Given the description of an element on the screen output the (x, y) to click on. 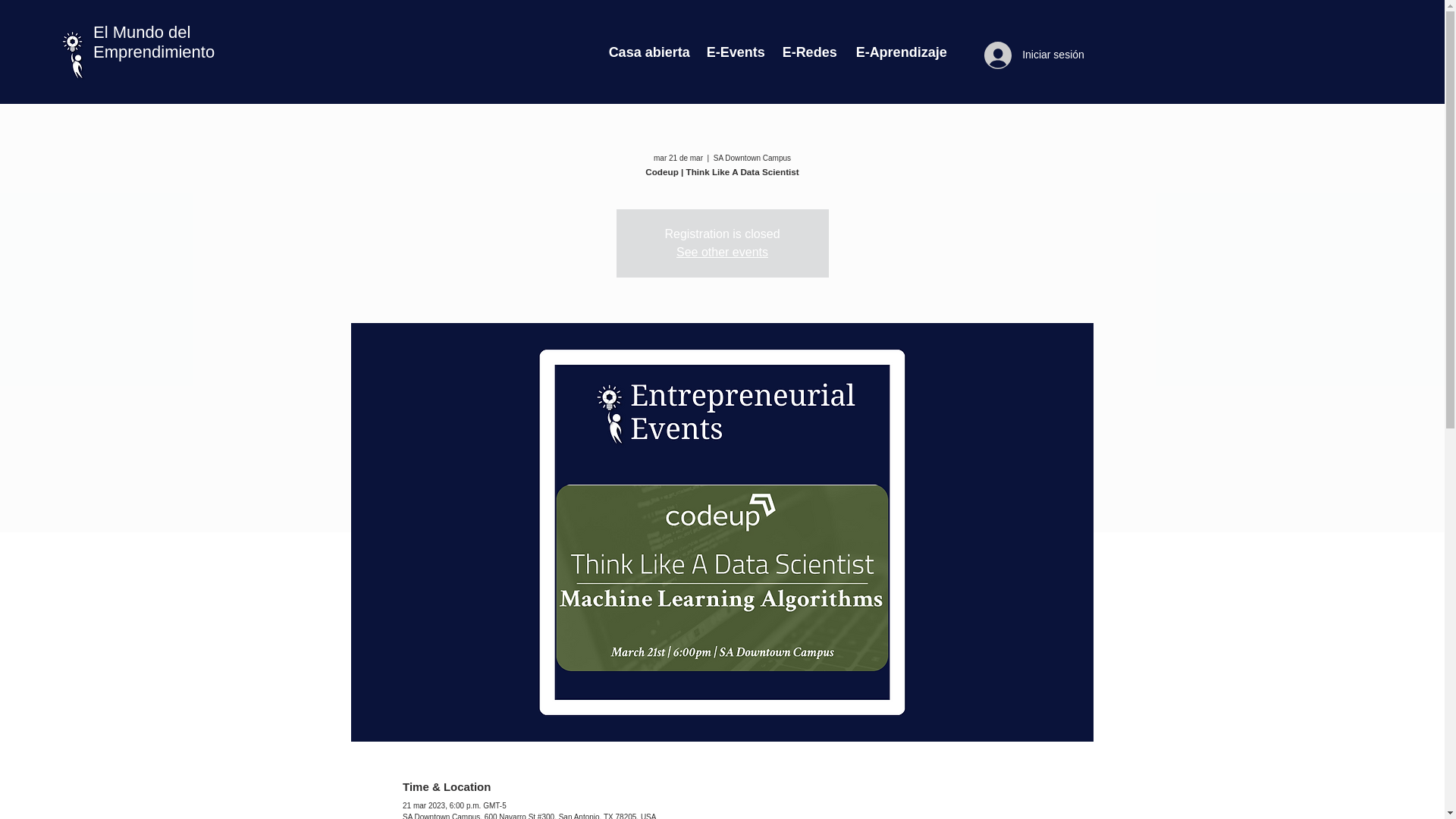
El Mundo del (141, 31)
E-Events (733, 52)
See other events (722, 251)
Casa abierta (645, 52)
E-Redes (807, 52)
E-Aprendizaje (898, 52)
